Given the description of an element on the screen output the (x, y) to click on. 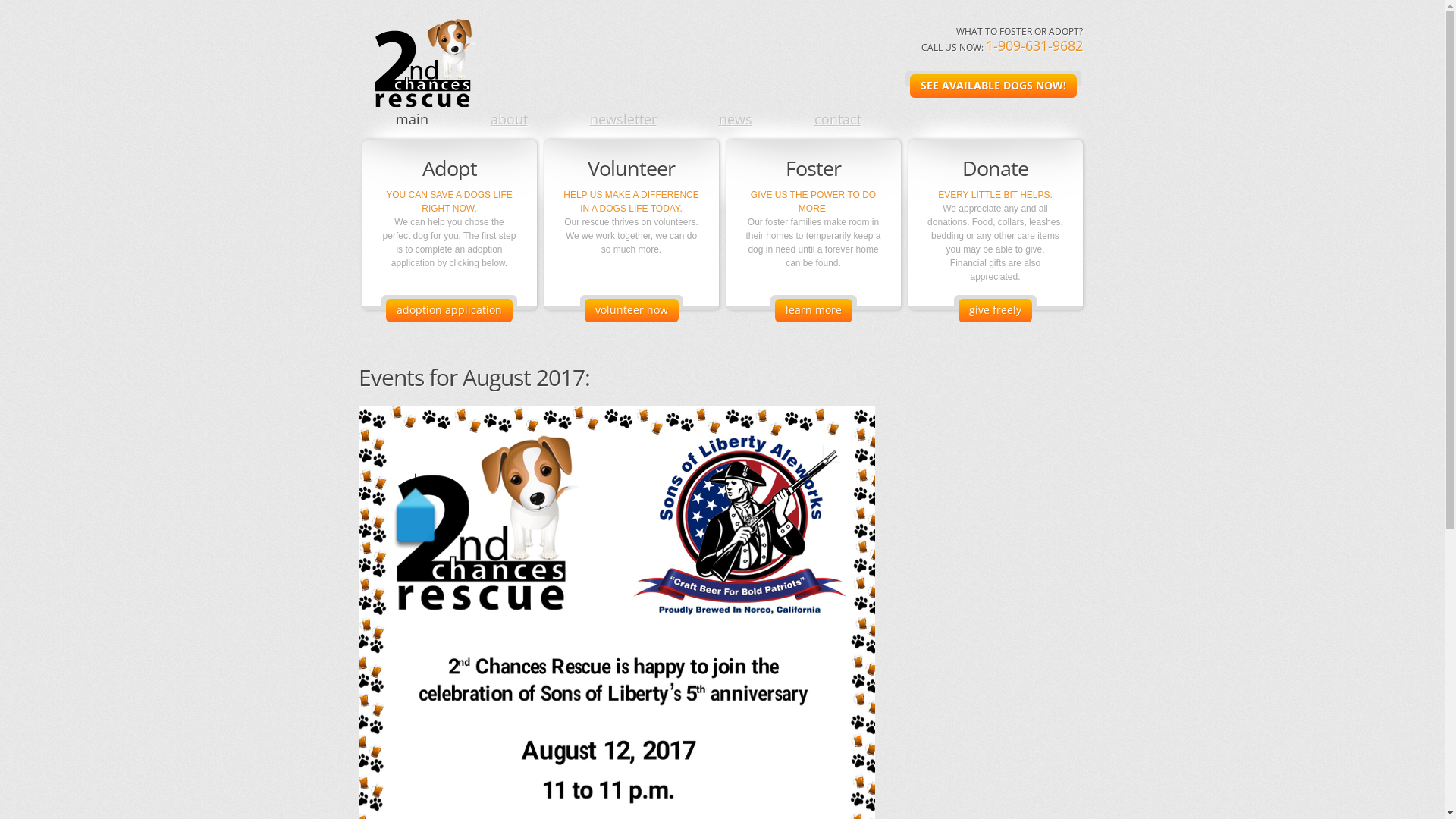
learn more Element type: text (813, 310)
about Element type: text (508, 118)
volunteer now Element type: text (630, 310)
adoption application Element type: text (448, 310)
2nd Chances Rescue Element type: text (419, 53)
newsletter Element type: text (622, 118)
give freely Element type: text (995, 310)
SEE AVAILABLE DOGS NOW! Element type: text (993, 85)
main Element type: text (411, 118)
contact Element type: text (837, 118)
news Element type: text (735, 118)
